Given the description of an element on the screen output the (x, y) to click on. 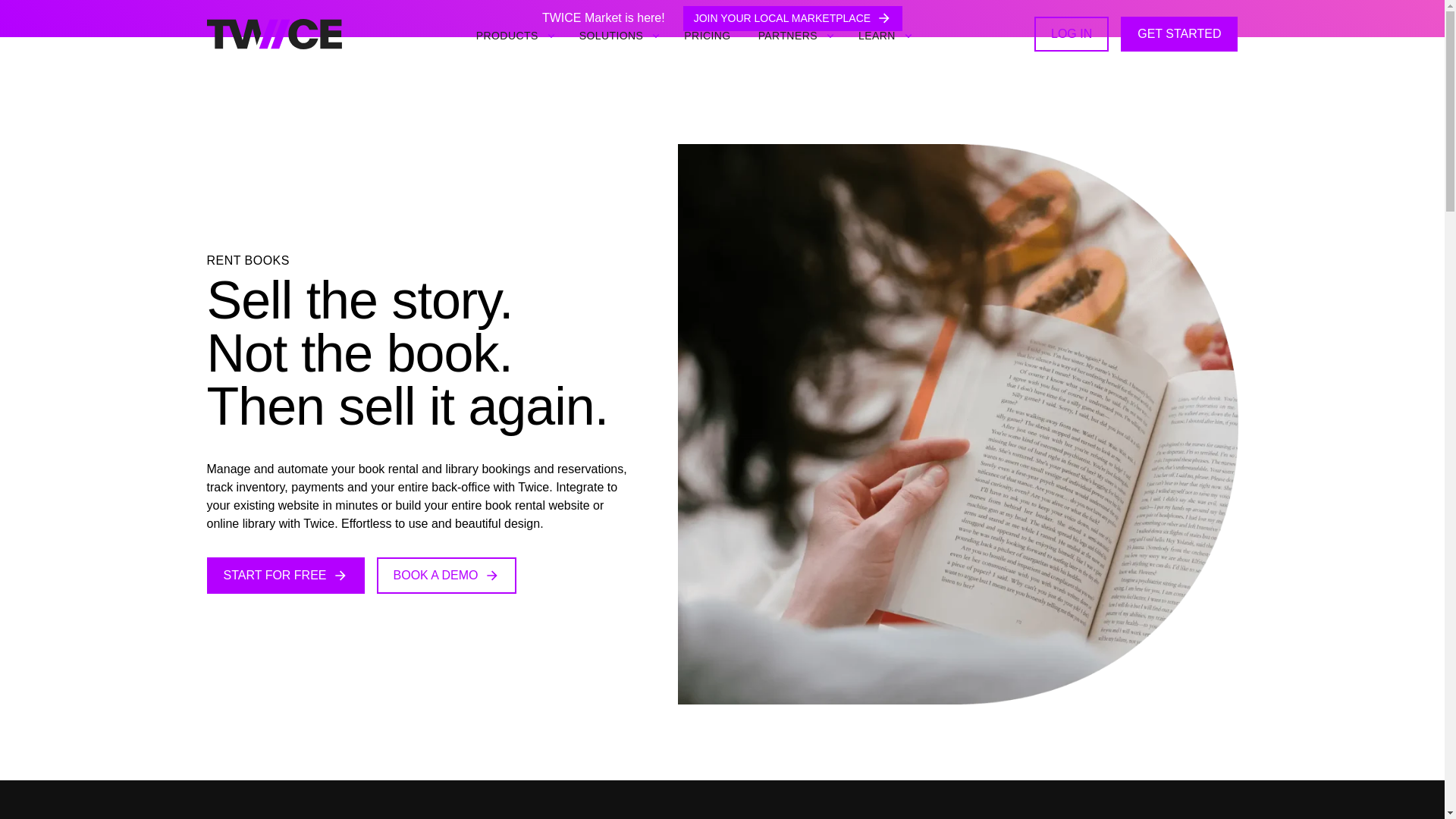
BOOK A DEMO (446, 575)
PRODUCTS (507, 35)
GET STARTED (1179, 33)
Logo, Link to front page. (273, 33)
LOG IN (1070, 33)
LEARN (877, 35)
PRICING (707, 35)
JOIN YOUR LOCAL MARKETPLACE (792, 18)
START FOR FREE (285, 575)
SOLUTIONS (611, 35)
PARTNERS (787, 35)
